Given the description of an element on the screen output the (x, y) to click on. 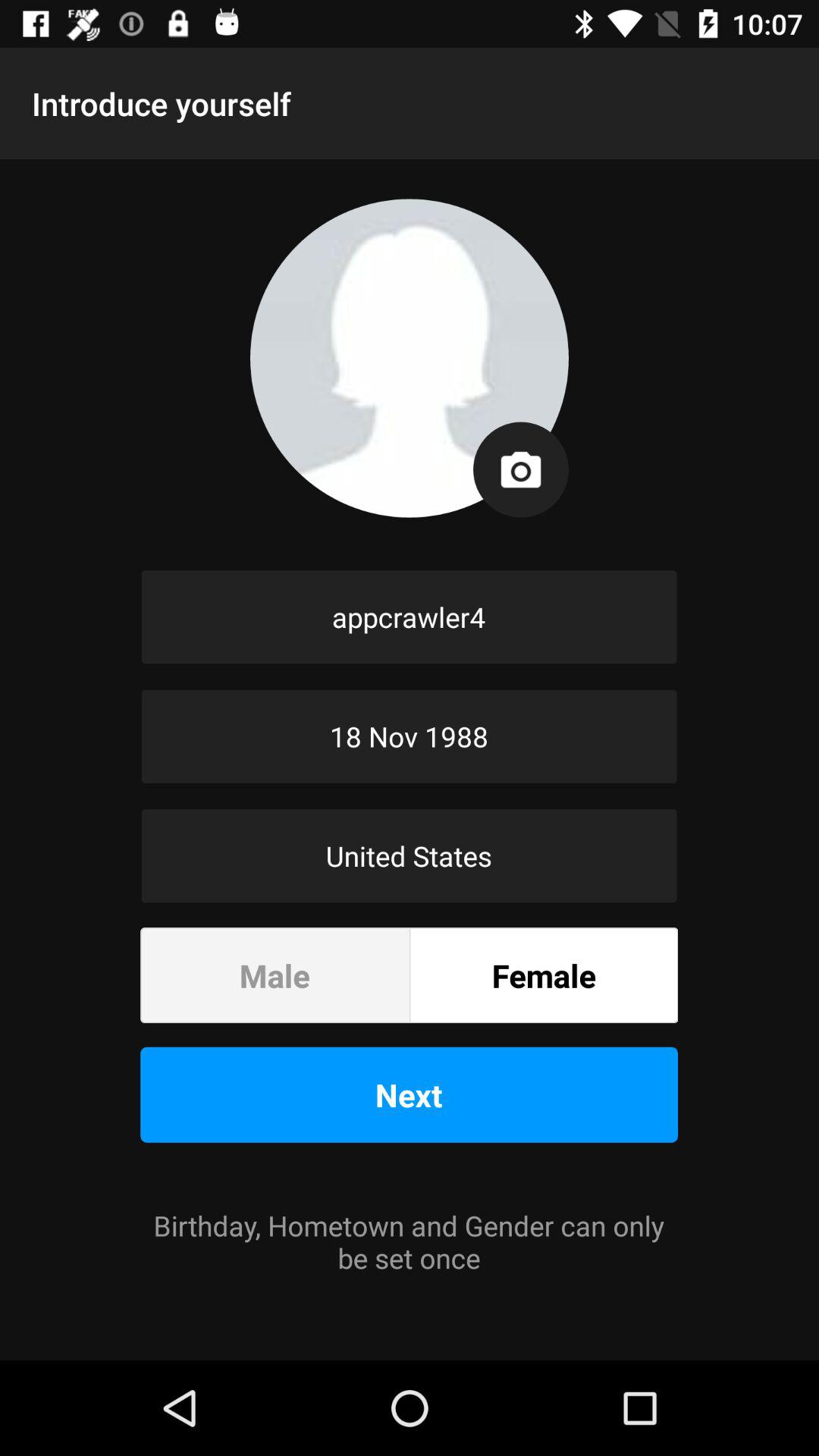
choose icon above next item (543, 975)
